Given the description of an element on the screen output the (x, y) to click on. 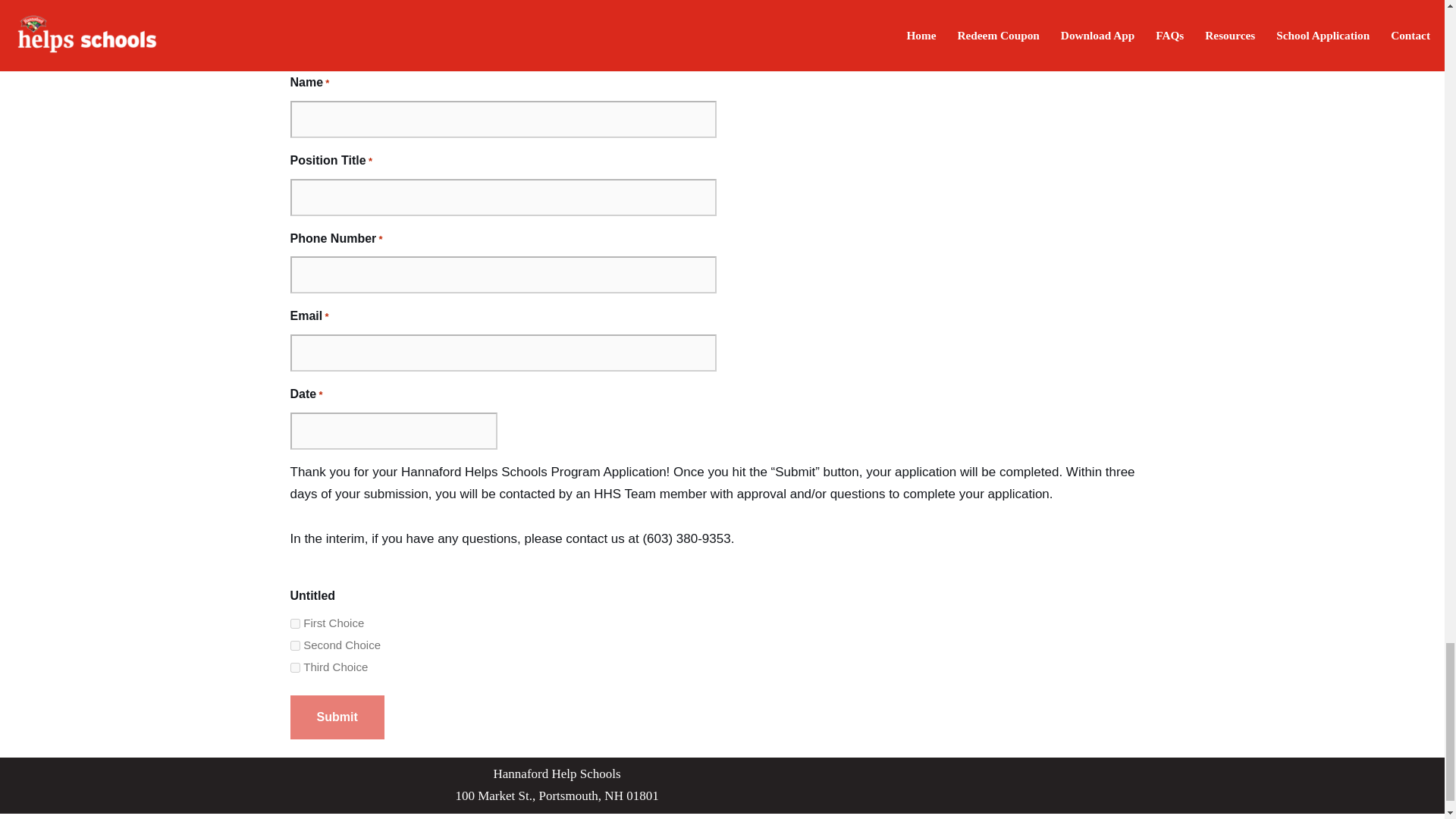
Submit (336, 717)
